Given the description of an element on the screen output the (x, y) to click on. 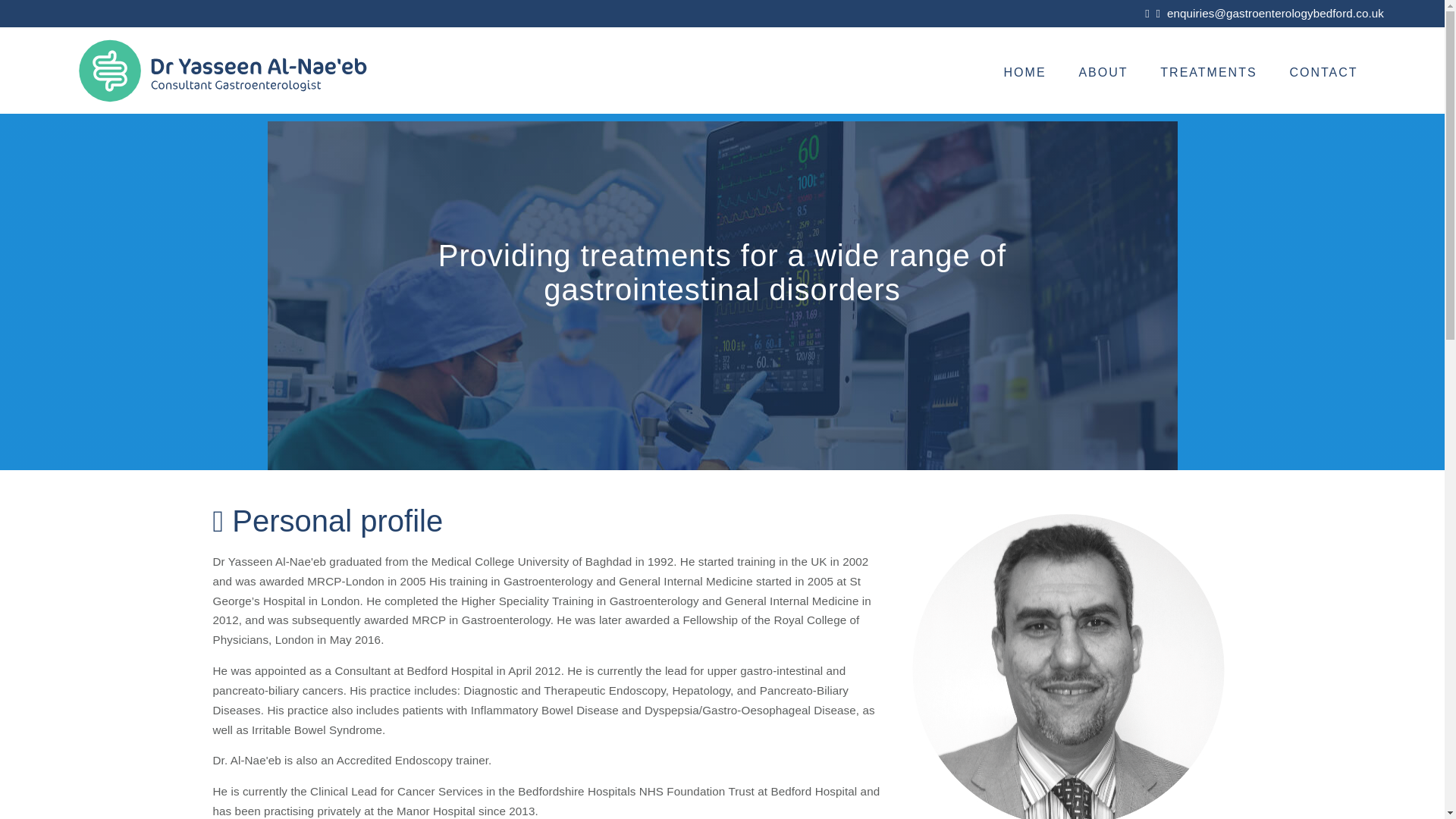
CONTACT (1323, 72)
ABOUT (1103, 72)
TREATMENTS (1208, 72)
HOME (1025, 72)
